Given the description of an element on the screen output the (x, y) to click on. 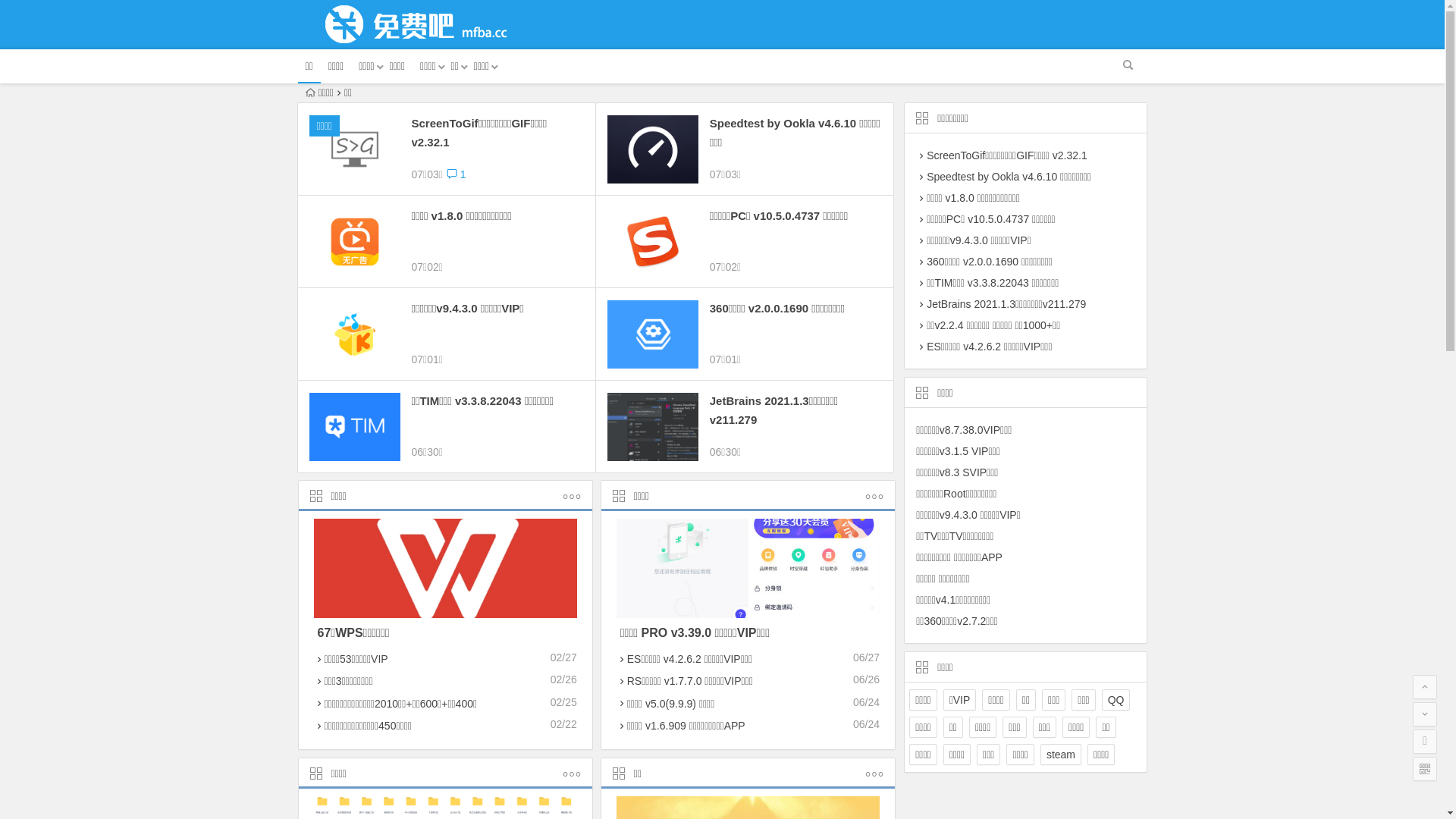
steam Element type: text (1060, 754)
1 Element type: text (456, 174)
QQ Element type: text (1115, 699)
